Given the description of an element on the screen output the (x, y) to click on. 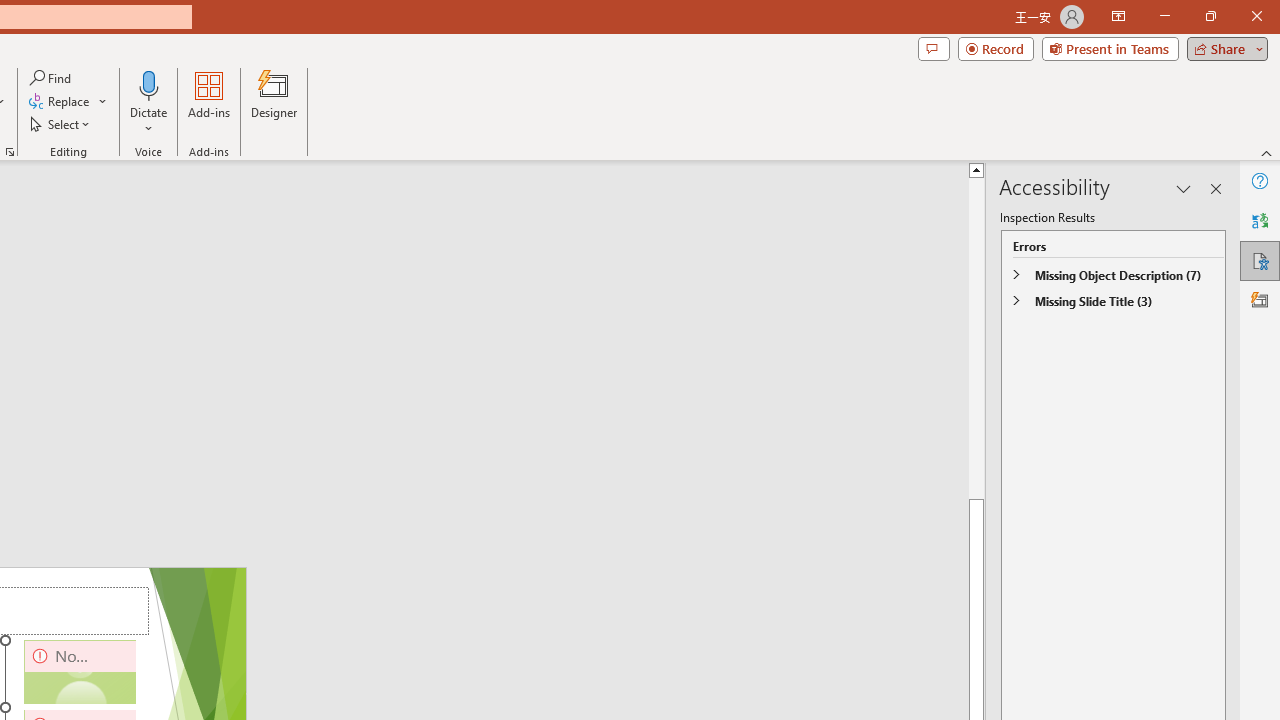
Camera 5, No camera detected. (80, 672)
